Given the description of an element on the screen output the (x, y) to click on. 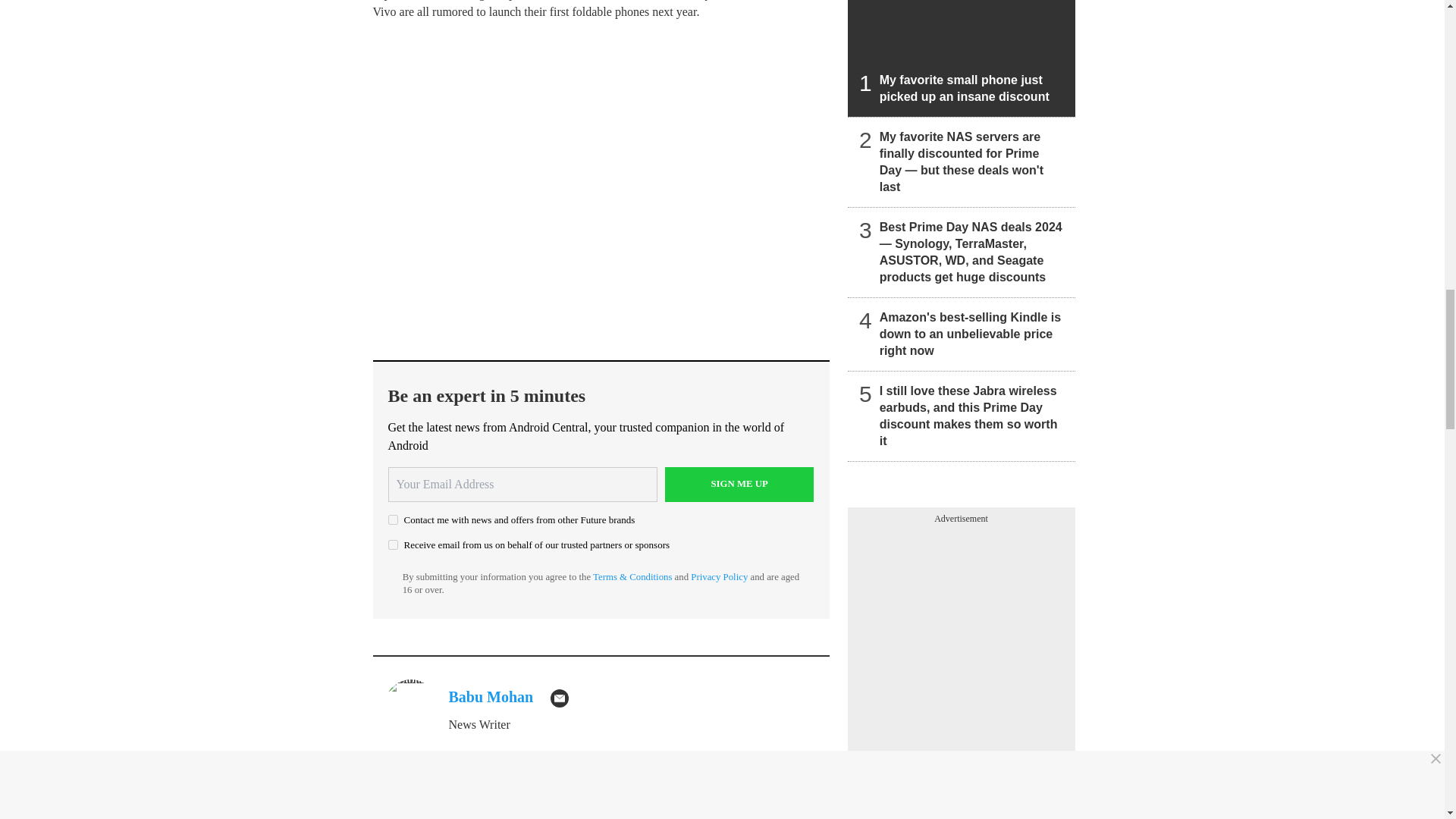
Sign me up (739, 484)
on (392, 519)
on (392, 544)
